Given the description of an element on the screen output the (x, y) to click on. 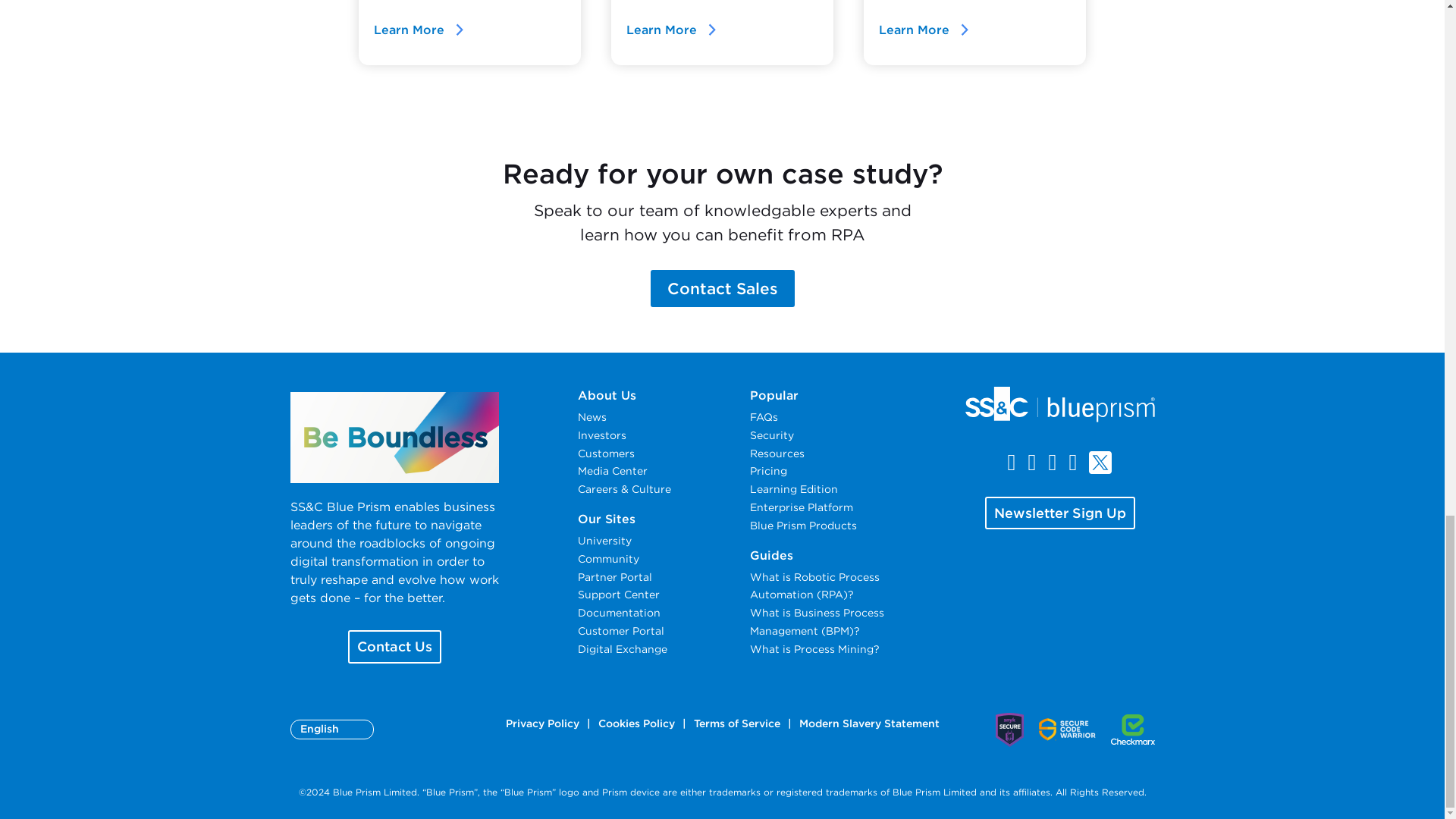
Group 33 (1058, 403)
